Given the description of an element on the screen output the (x, y) to click on. 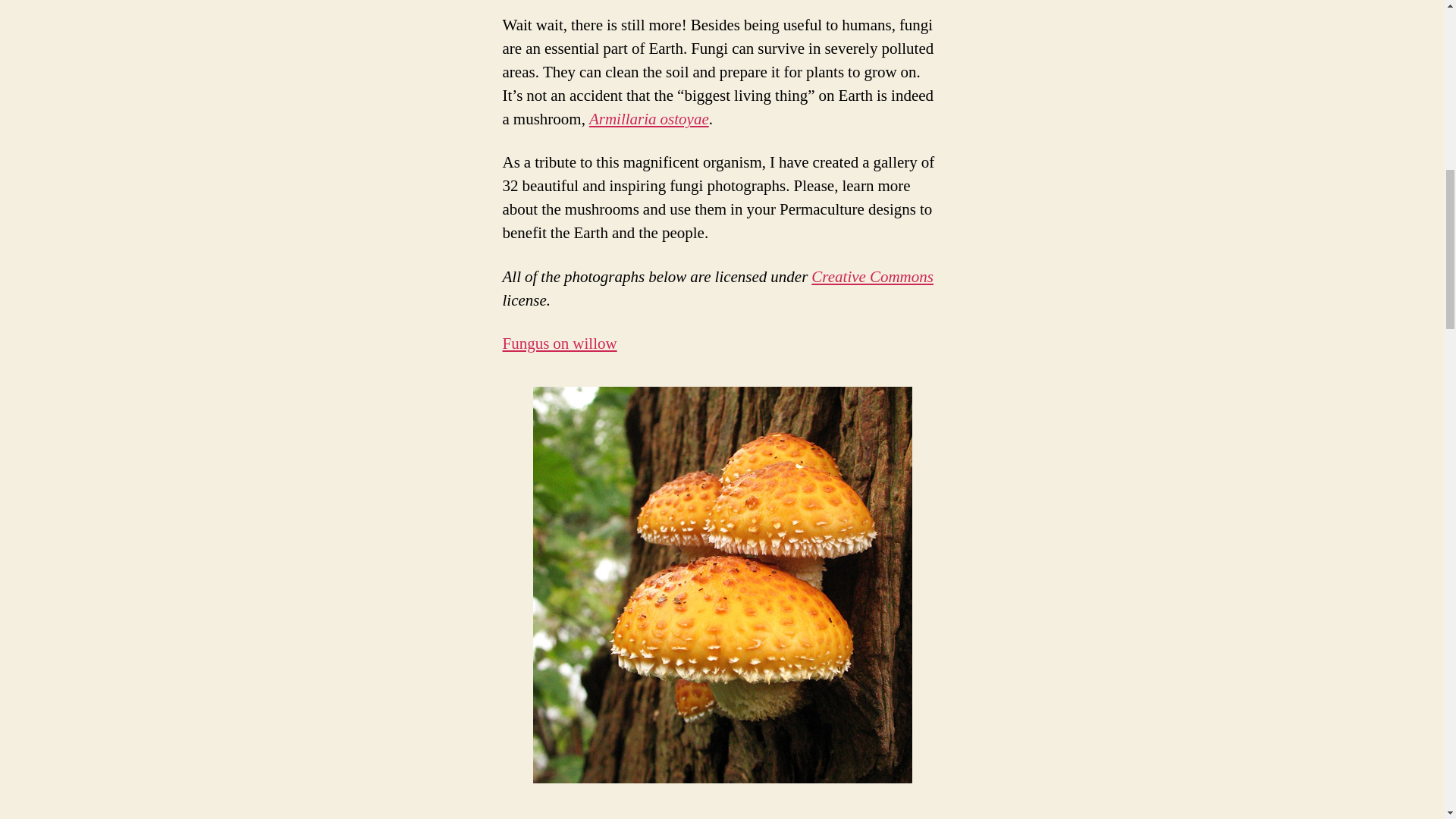
Creative Commons (871, 276)
flickr link (554, 816)
Wiki definition (649, 118)
Fungus on willow (558, 343)
Armillaria ostoyae (649, 118)
The Mushrooms (554, 816)
creative commons (871, 276)
